Given the description of an element on the screen output the (x, y) to click on. 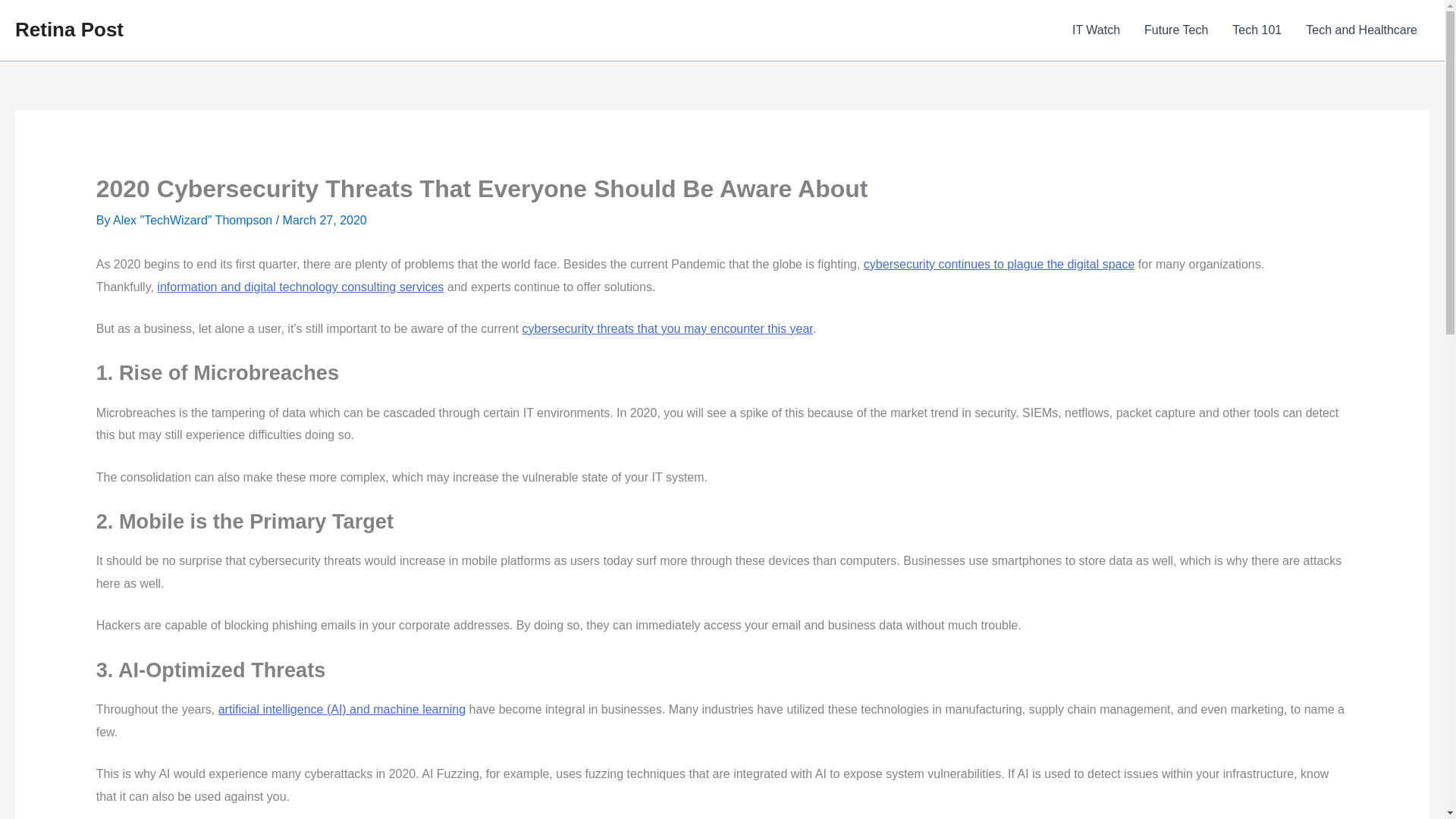
IT Watch (1095, 30)
Tech 101 (1257, 30)
cybersecurity continues to plague the digital space (999, 264)
Alex "TechWizard" Thompson (194, 219)
Lumos Consulting Inc. (300, 286)
View all posts by Alex  (194, 219)
cybersecurity threats that you may encounter this year (666, 328)
Retina Post (68, 29)
information and digital technology consulting services (300, 286)
Online Degrees (666, 328)
